Given the description of an element on the screen output the (x, y) to click on. 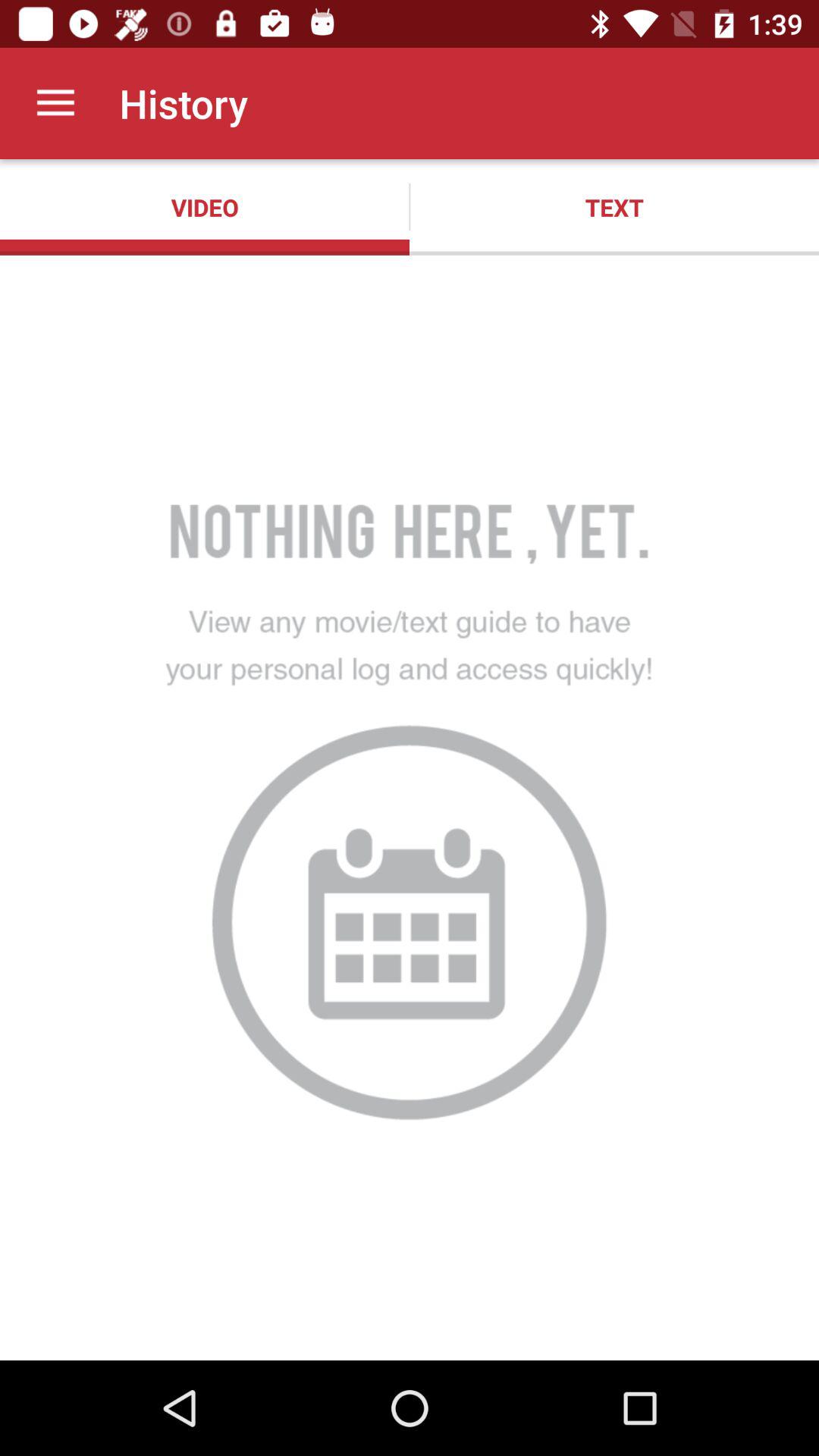
select icon above video item (55, 103)
